Given the description of an element on the screen output the (x, y) to click on. 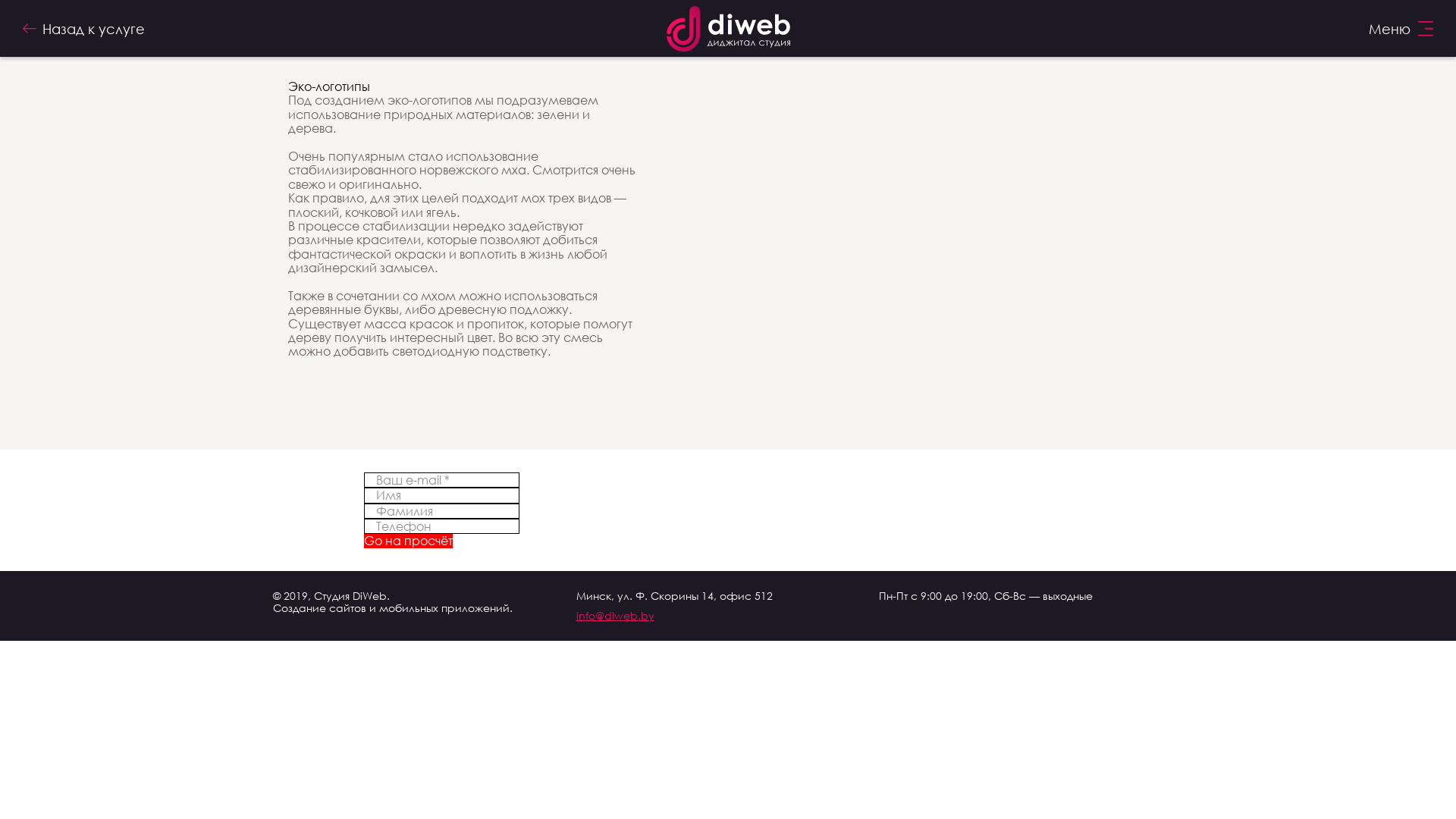
info@diweb.by Element type: text (727, 615)
